Given the description of an element on the screen output the (x, y) to click on. 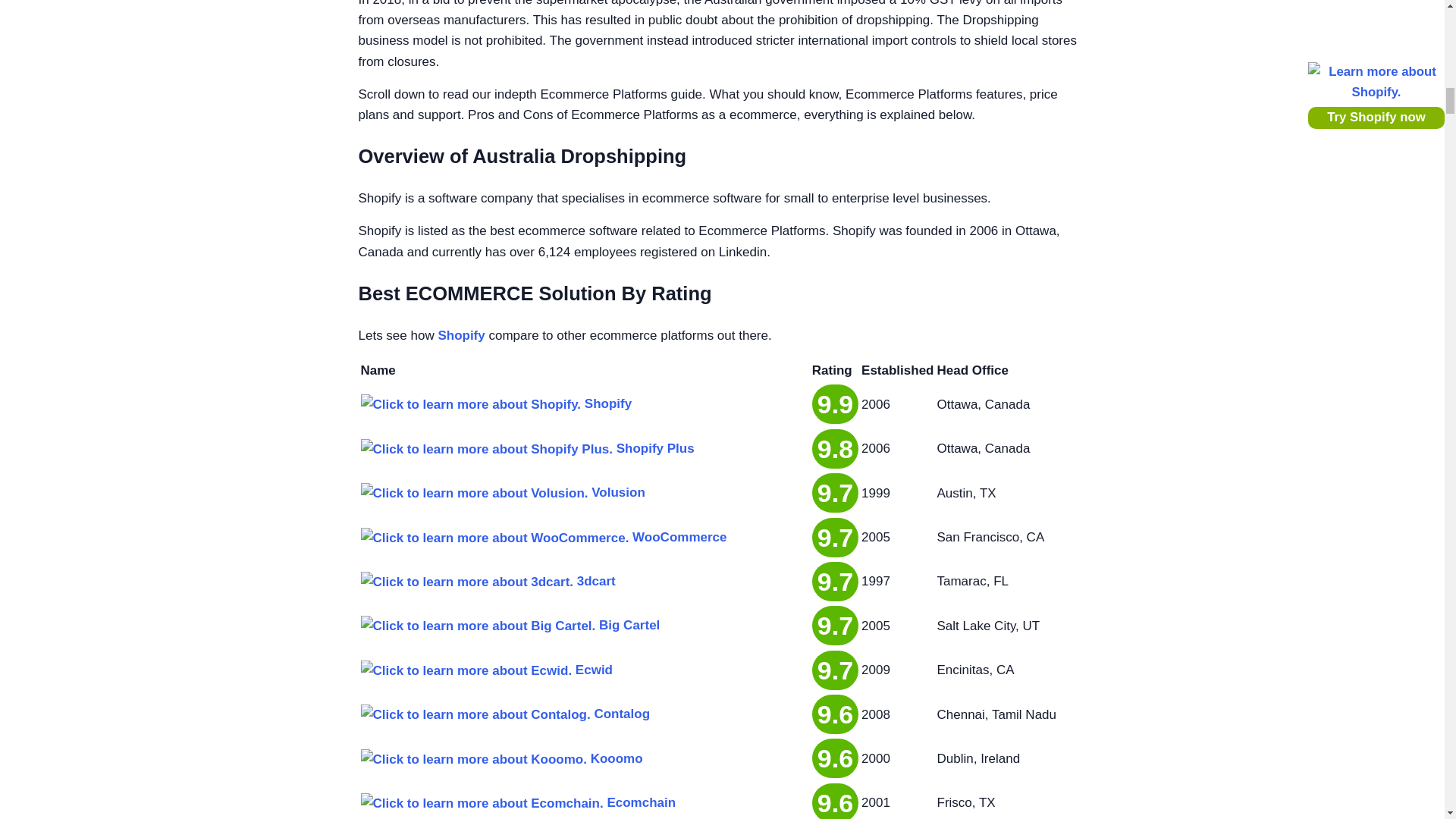
Click to learn more about 3dcart (467, 581)
Click to learn more about Shopify Plus (486, 448)
Click to learn more about Kooomo (473, 759)
Click to learn more about Ecomchain (482, 803)
Click to learn more about Contalog (476, 714)
Click to learn more about Shopify (470, 403)
Click to learn more about WooCommerce (494, 537)
Click to learn more about Ecwid (466, 670)
Click to learn more about Volusion (474, 493)
Click to learn more about Big Cartel (478, 625)
